Given the description of an element on the screen output the (x, y) to click on. 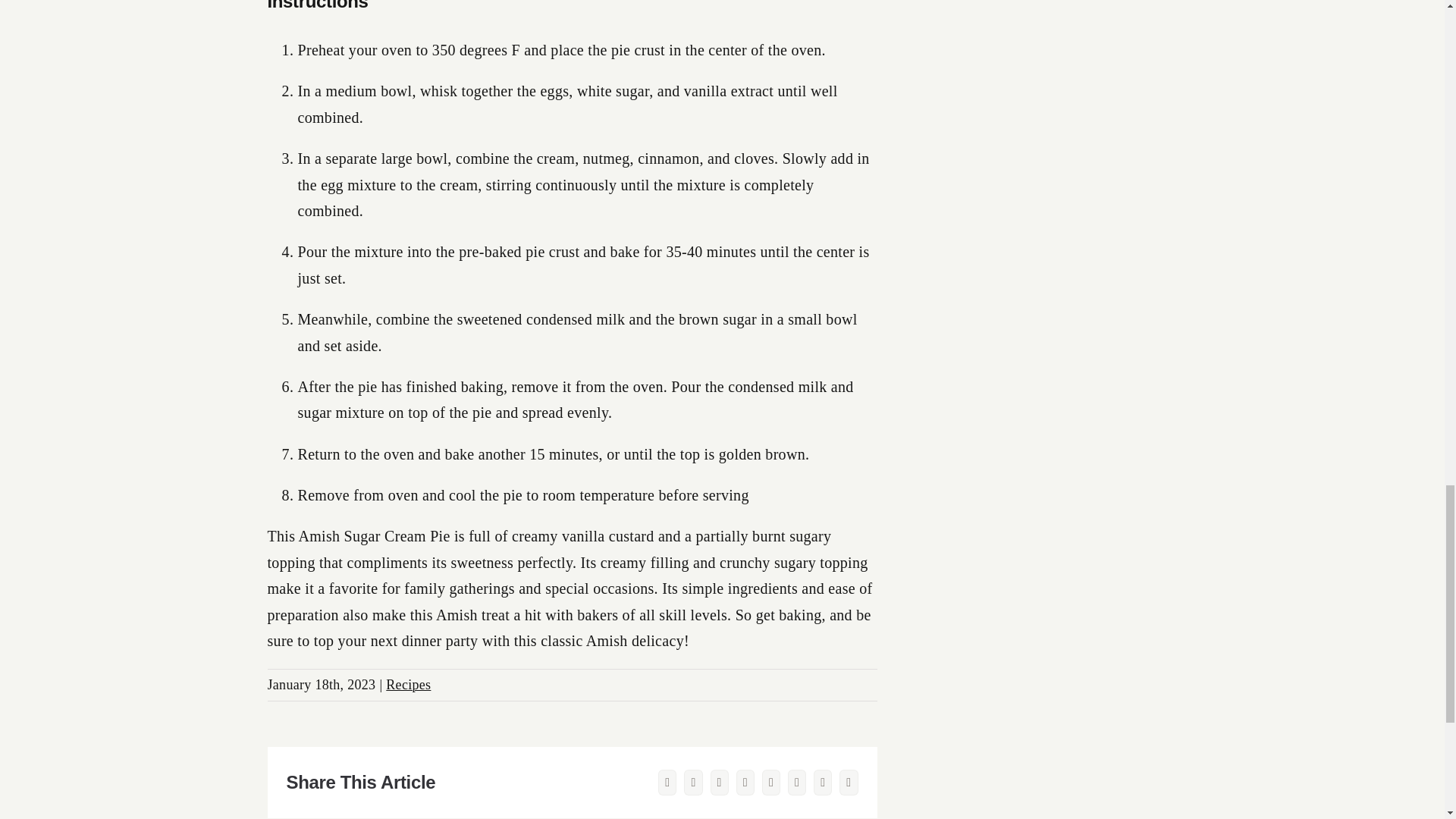
Recipes (407, 684)
